Given the description of an element on the screen output the (x, y) to click on. 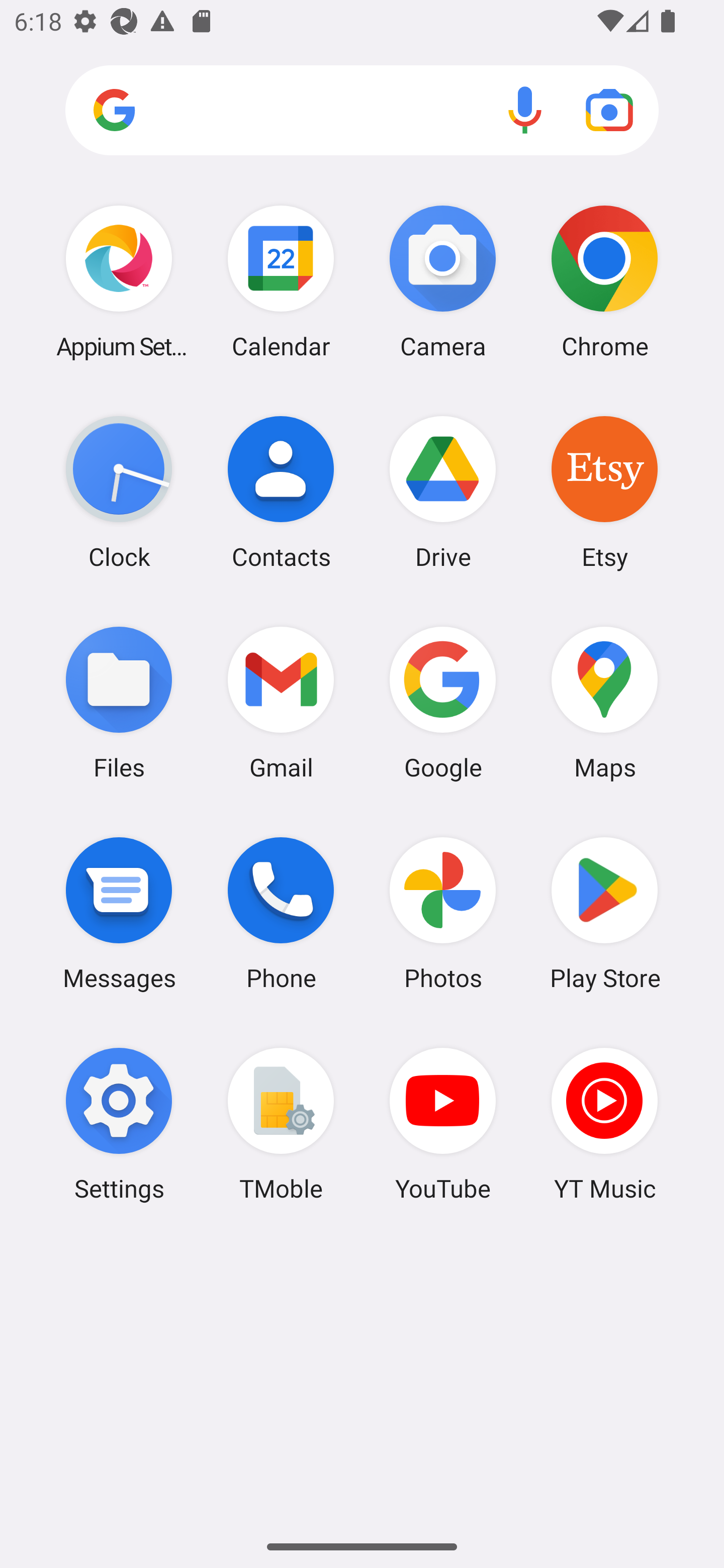
Search apps, web and more (361, 110)
Voice search (524, 109)
Google Lens (608, 109)
Appium Settings (118, 281)
Calendar (280, 281)
Camera (443, 281)
Chrome (604, 281)
Clock (118, 492)
Contacts (280, 492)
Drive (443, 492)
Etsy (604, 492)
Files (118, 702)
Gmail (280, 702)
Google (443, 702)
Maps (604, 702)
Messages (118, 913)
Phone (280, 913)
Photos (443, 913)
Play Store (604, 913)
Settings (118, 1124)
TMoble (280, 1124)
YouTube (443, 1124)
YT Music (604, 1124)
